Given the description of an element on the screen output the (x, y) to click on. 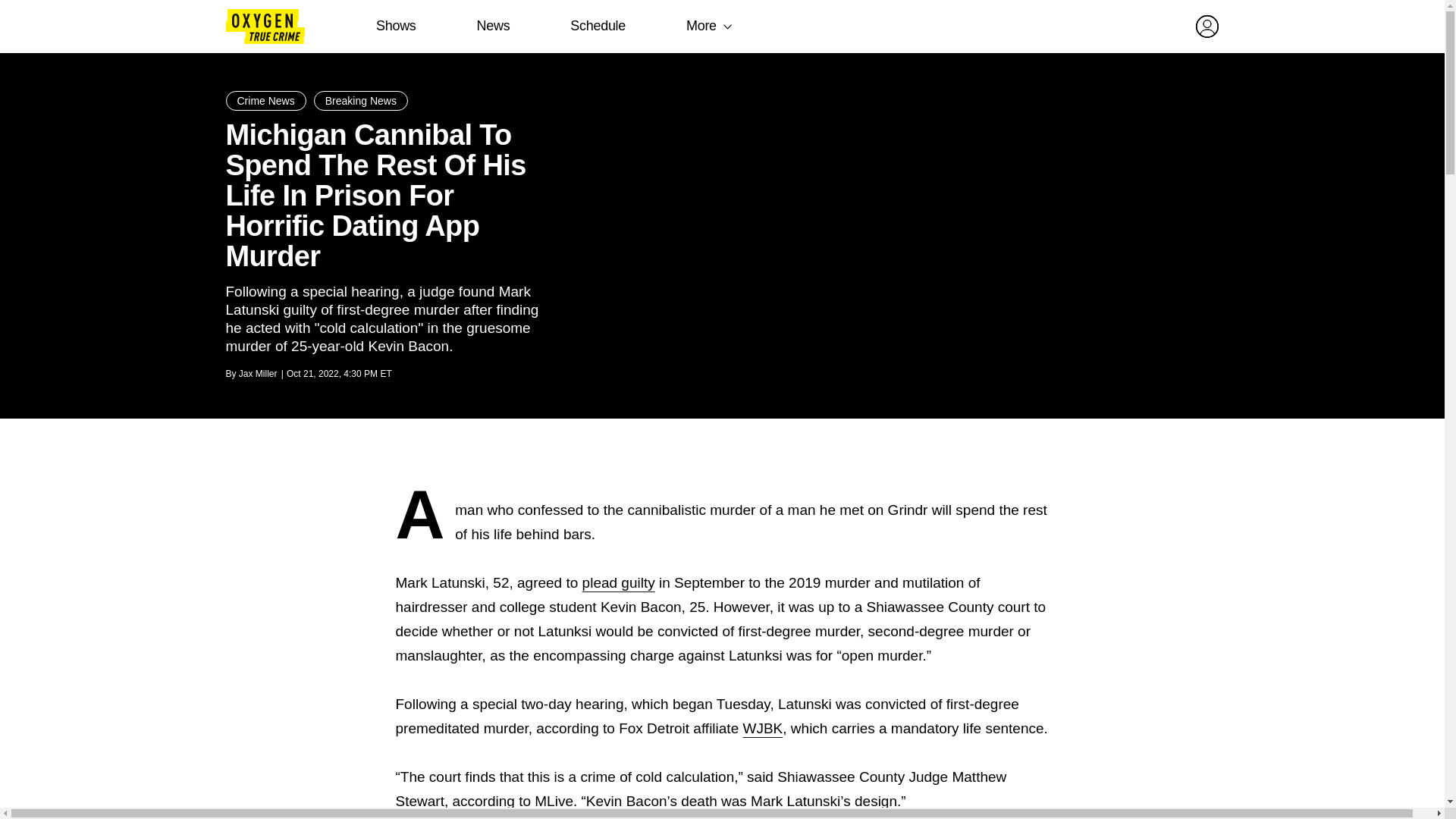
Schedule (598, 26)
Crime News (265, 100)
News (492, 26)
MLive (553, 801)
Jax Miller (258, 373)
plead guilty (618, 582)
More (700, 26)
Shows (395, 26)
Breaking News (360, 100)
WJBK (762, 728)
